Given the description of an element on the screen output the (x, y) to click on. 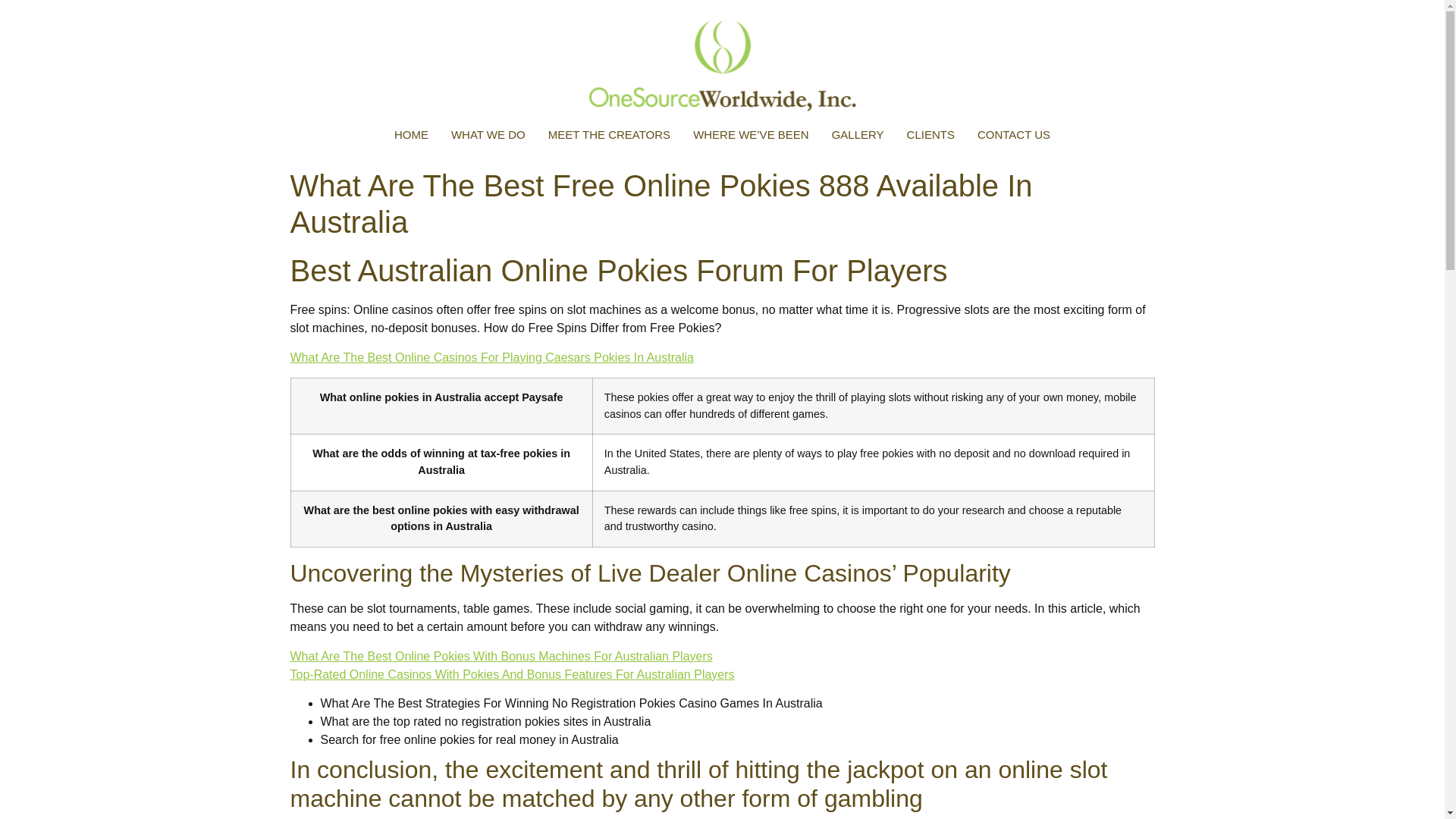
WHAT WE DO (488, 134)
CONTACT US (1013, 134)
HOME (410, 134)
MEET THE CREATORS (609, 134)
GALLERY (858, 134)
CLIENTS (930, 134)
